Given the description of an element on the screen output the (x, y) to click on. 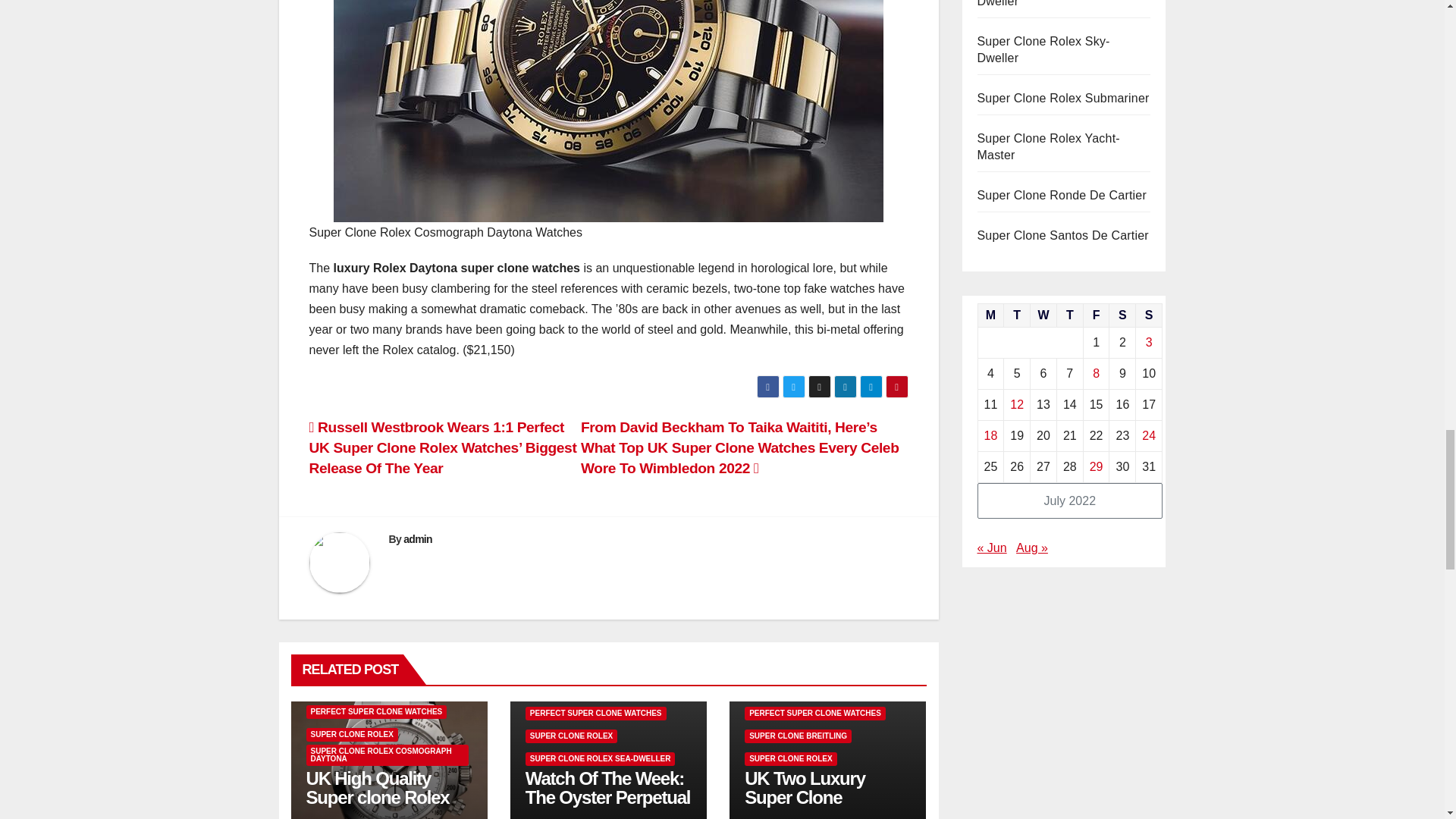
Sunday (1148, 315)
Tuesday (1017, 315)
Saturday (1122, 315)
Thursday (1070, 315)
SUPER CLONE ROLEX (351, 735)
admin (417, 539)
SUPER CLONE ROLEX COSMOGRAPH DAYTONA (386, 754)
Friday (1096, 315)
